Given the description of an element on the screen output the (x, y) to click on. 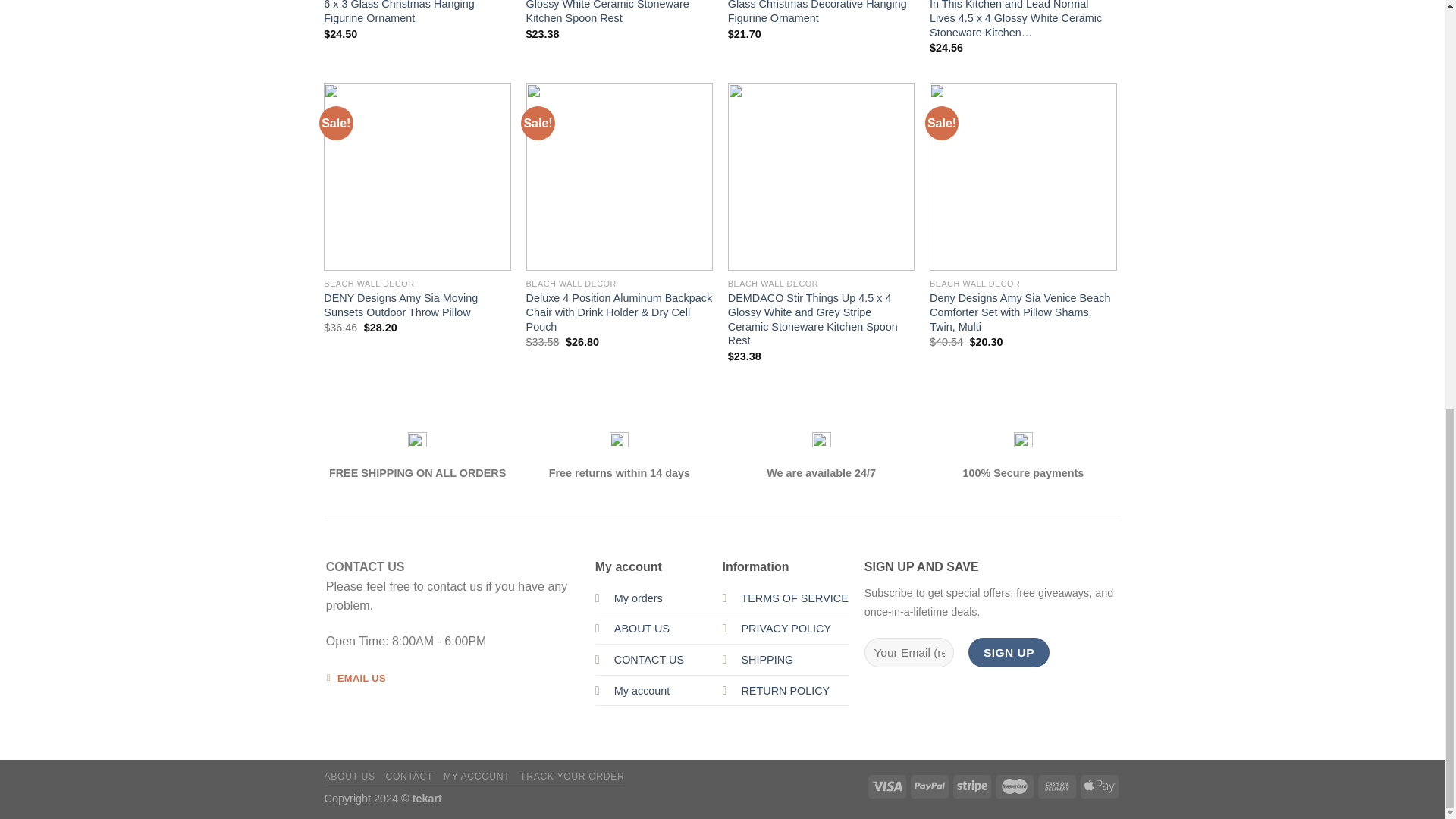
Sign Up (1008, 652)
